Given the description of an element on the screen output the (x, y) to click on. 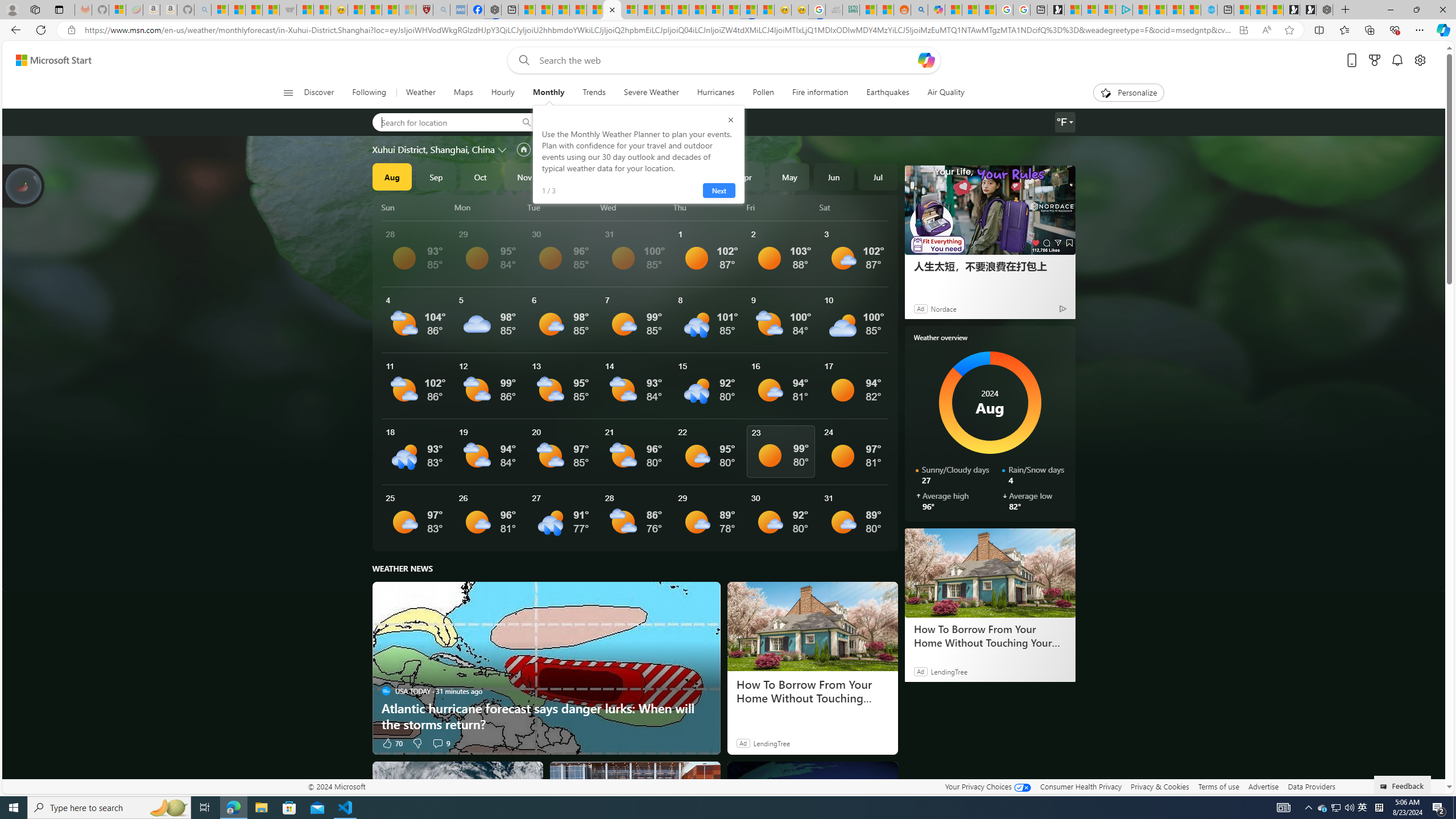
12 Popular Science Lies that Must be Corrected - Sleeping (407, 9)
Weather settings (1064, 122)
Jun (833, 176)
View comments 9 Comment (437, 743)
